Given the description of an element on the screen output the (x, y) to click on. 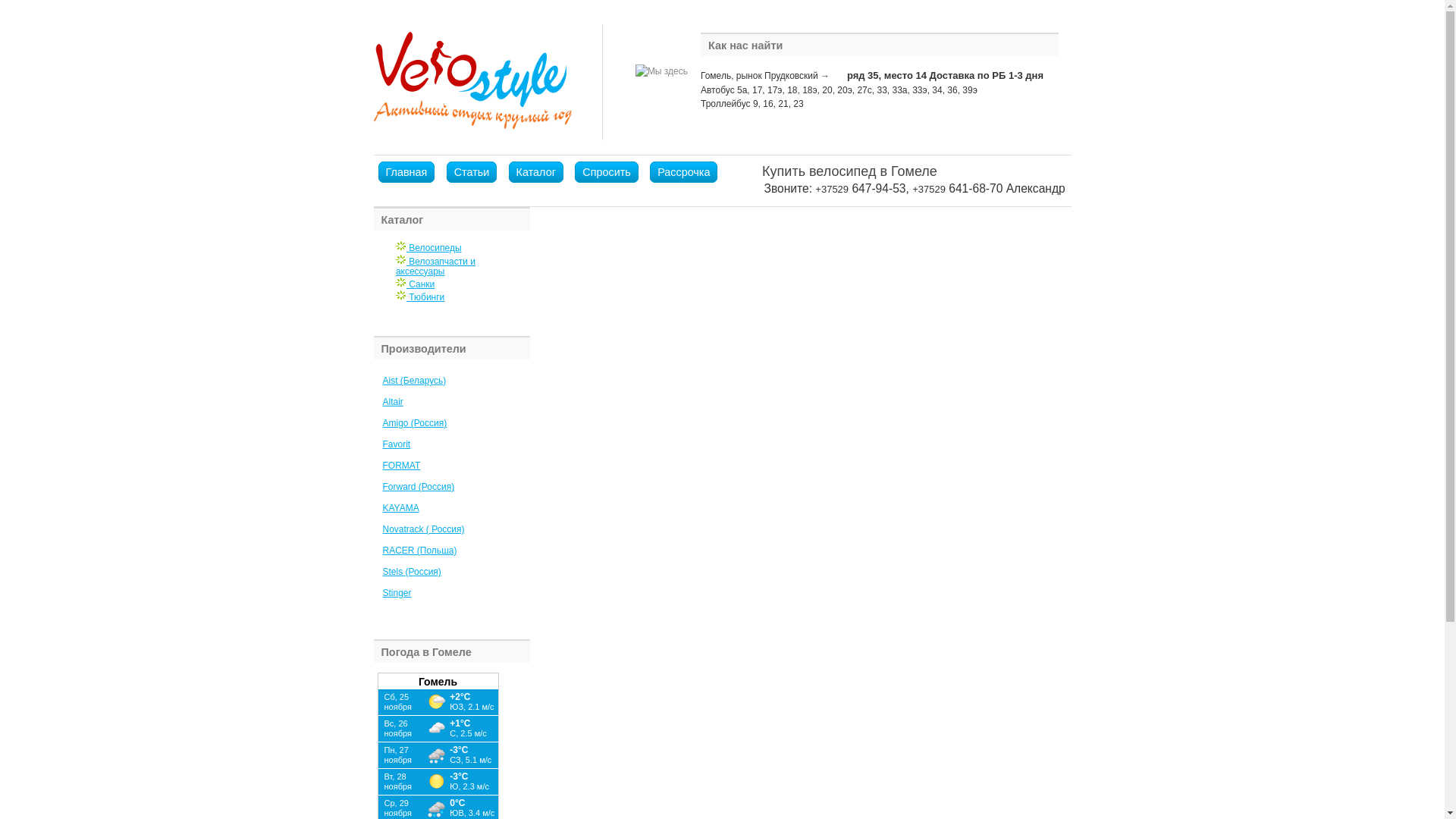
Stinger Element type: text (396, 592)
Favorit Element type: text (396, 444)
FORMAT Element type: text (401, 465)
KAYAMA Element type: text (400, 507)
Altair Element type: text (392, 401)
